Given the description of an element on the screen output the (x, y) to click on. 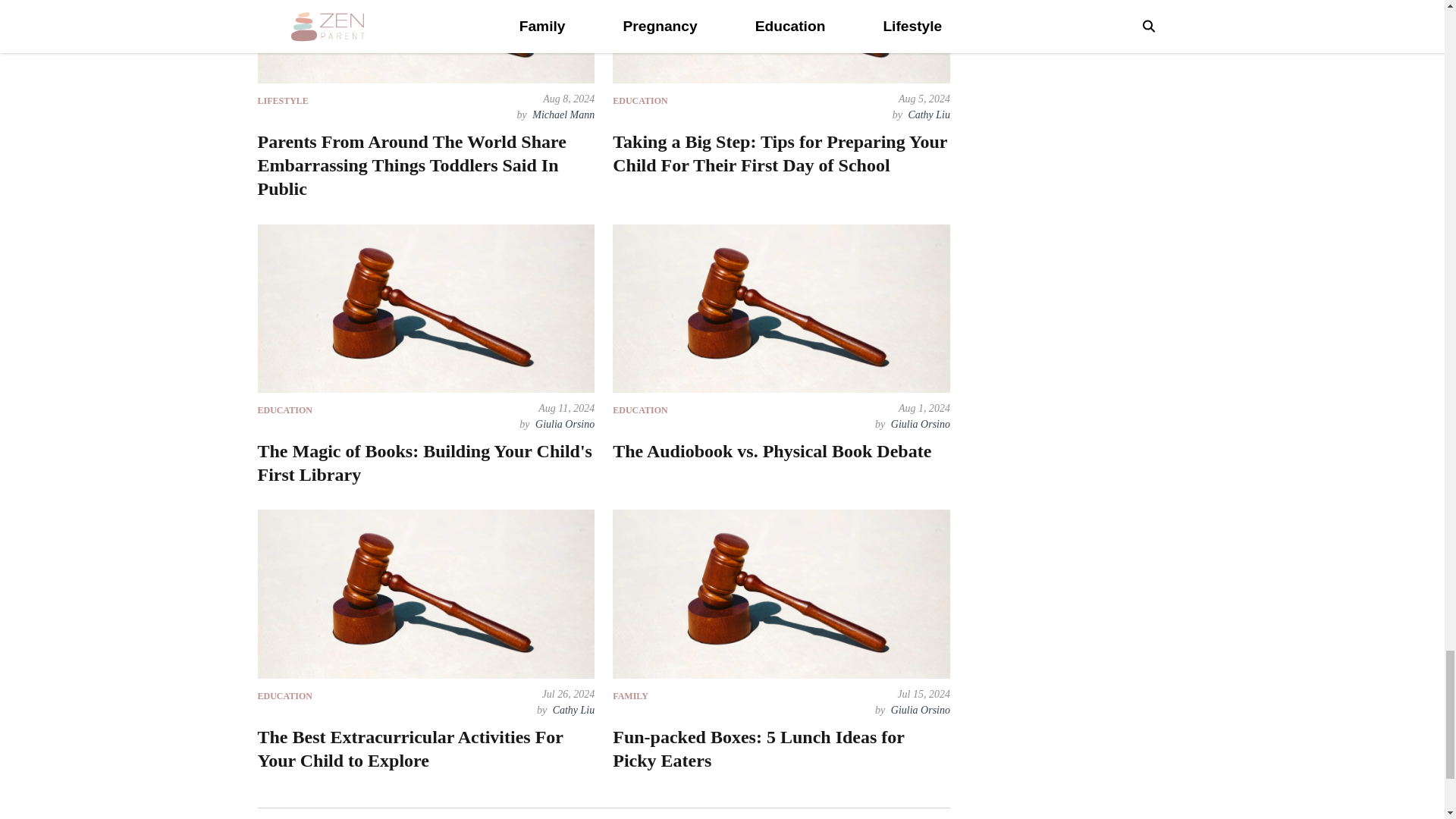
Giulia Orsino (563, 423)
EDUCATION (639, 410)
EDUCATION (285, 410)
Giulia Orsino (919, 423)
LIFESTYLE (282, 101)
The Magic of Books: Building Your Child's First Library (424, 462)
EDUCATION (639, 101)
Cathy Liu (927, 114)
